Given the description of an element on the screen output the (x, y) to click on. 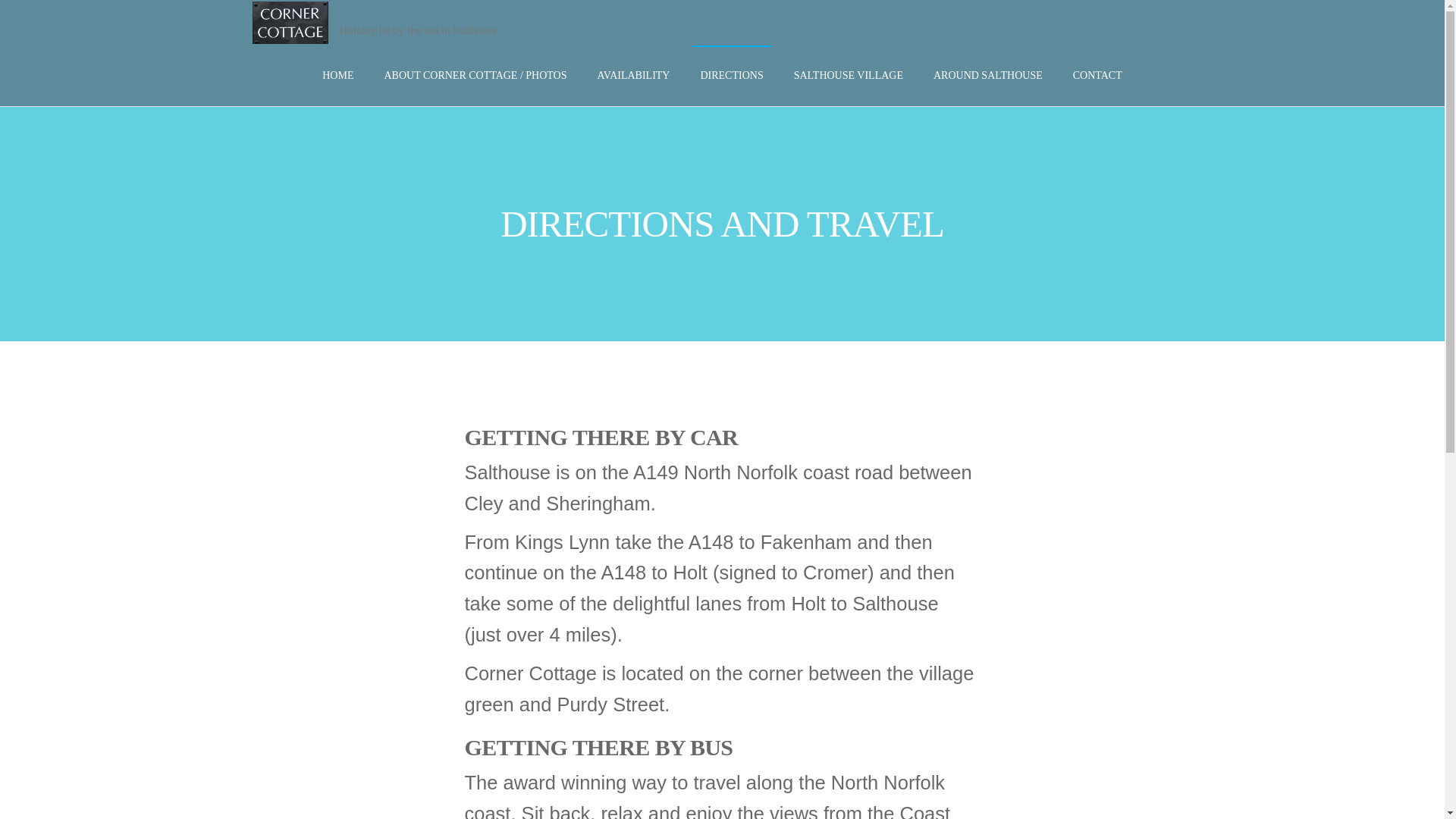
Contact (1097, 75)
Salthouse Village (848, 75)
AROUND SALTHOUSE (987, 75)
AVAILABILITY (633, 75)
Directions (731, 75)
SALTHOUSE VILLAGE (848, 75)
CORNER COTTAGE (387, 45)
DIRECTIONS (731, 75)
Around Salthouse (987, 75)
Availability (633, 75)
